Given the description of an element on the screen output the (x, y) to click on. 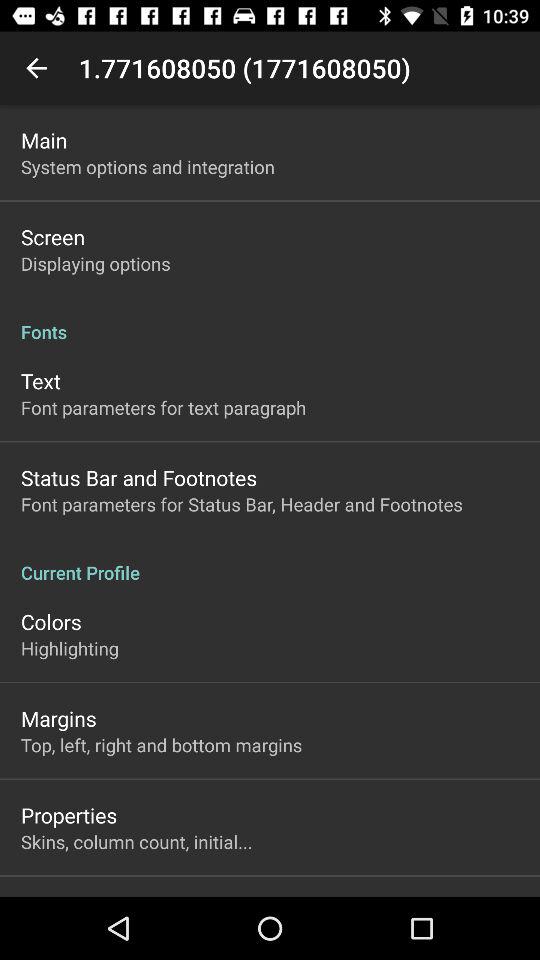
choose app above main item (36, 68)
